Given the description of an element on the screen output the (x, y) to click on. 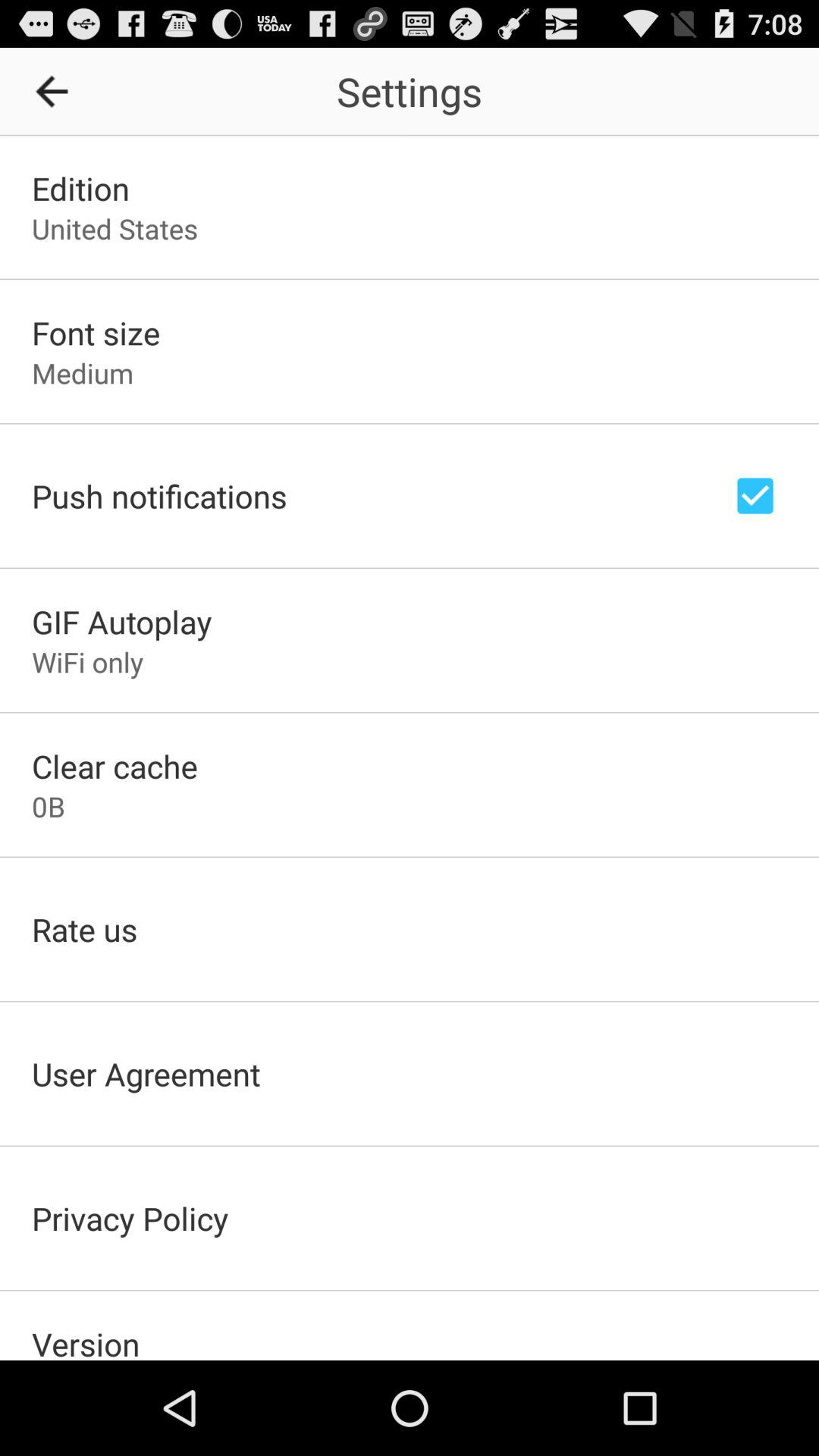
launch the   item (57, 91)
